Given the description of an element on the screen output the (x, y) to click on. 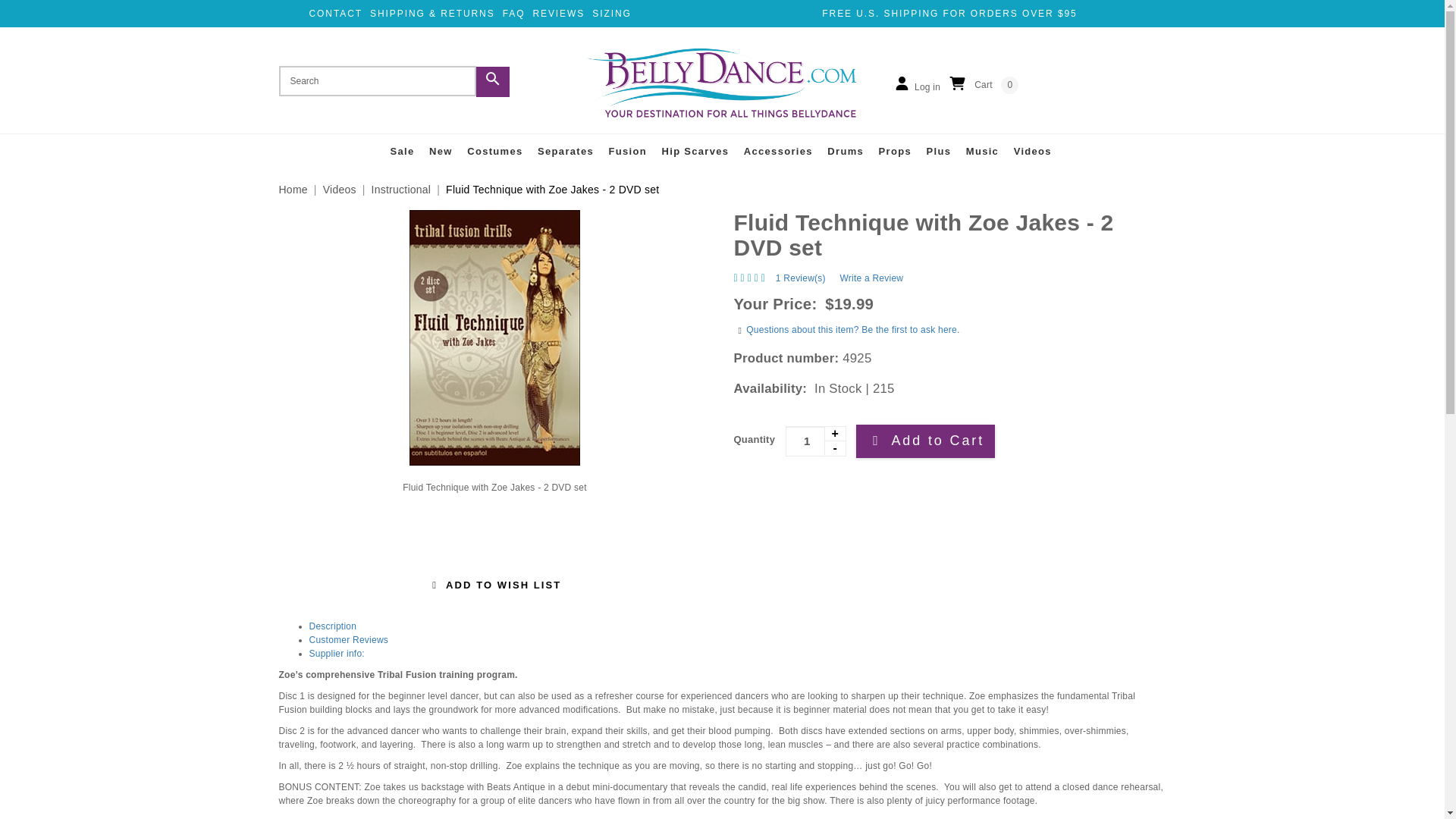
New (440, 152)
Costumes (494, 152)
1 (815, 440)
Separates (565, 152)
Fluid Technique with Zoe Jakes - 2 DVD set  (495, 487)
Sale (402, 152)
Log in (916, 84)
home (721, 81)
Cart 0 (982, 85)
REVIEWS (558, 13)
FAQ (513, 13)
Bellydance.com (721, 81)
SIZING (611, 13)
Fluid Technique with Zoe Jakes - 2 DVD set (949, 234)
Fluid Technique with Zoe Jakes - 2 DVD set  (495, 337)
